Given the description of an element on the screen output the (x, y) to click on. 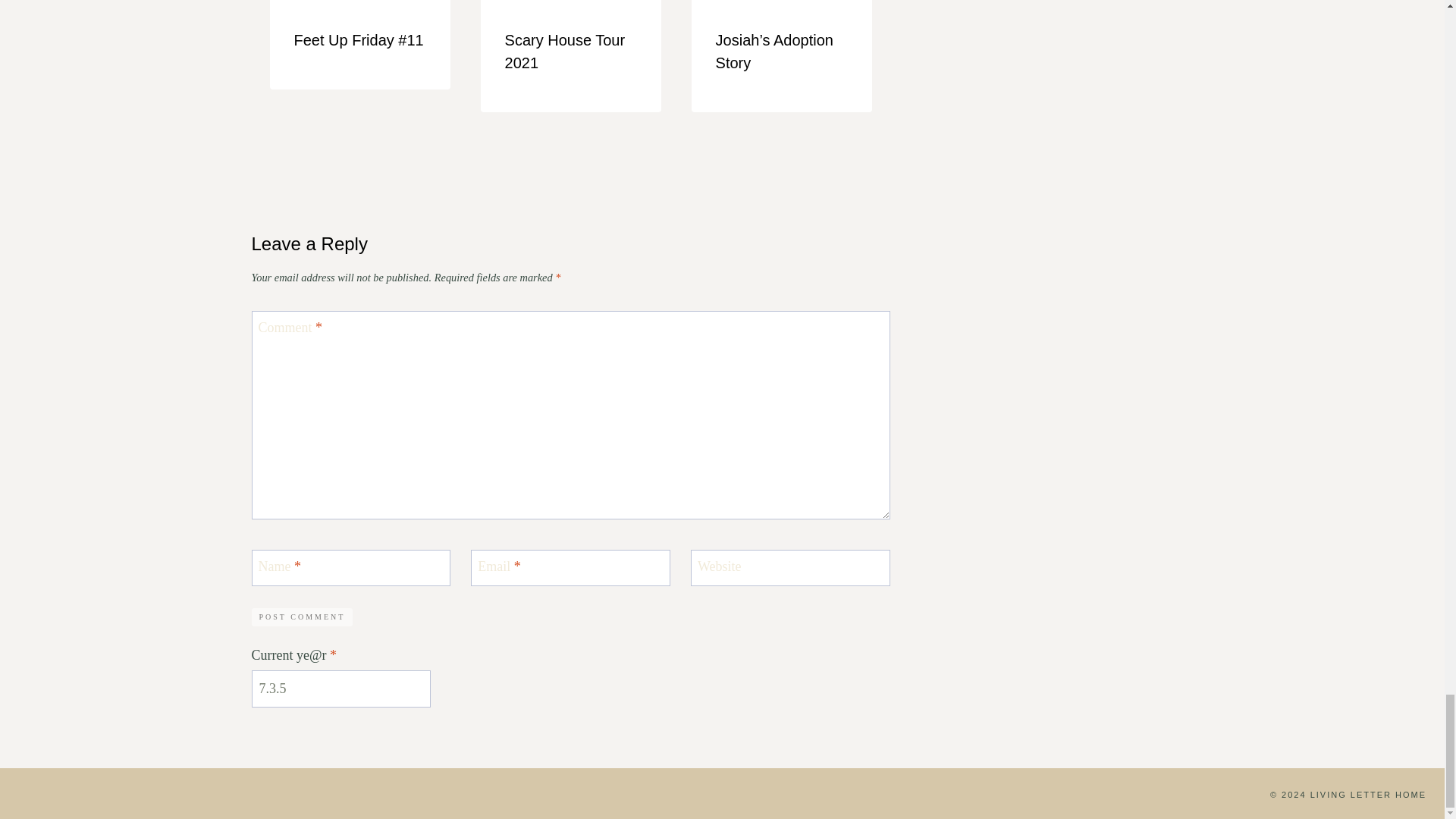
Post Comment (302, 617)
7.3.5 (340, 688)
